Given the description of an element on the screen output the (x, y) to click on. 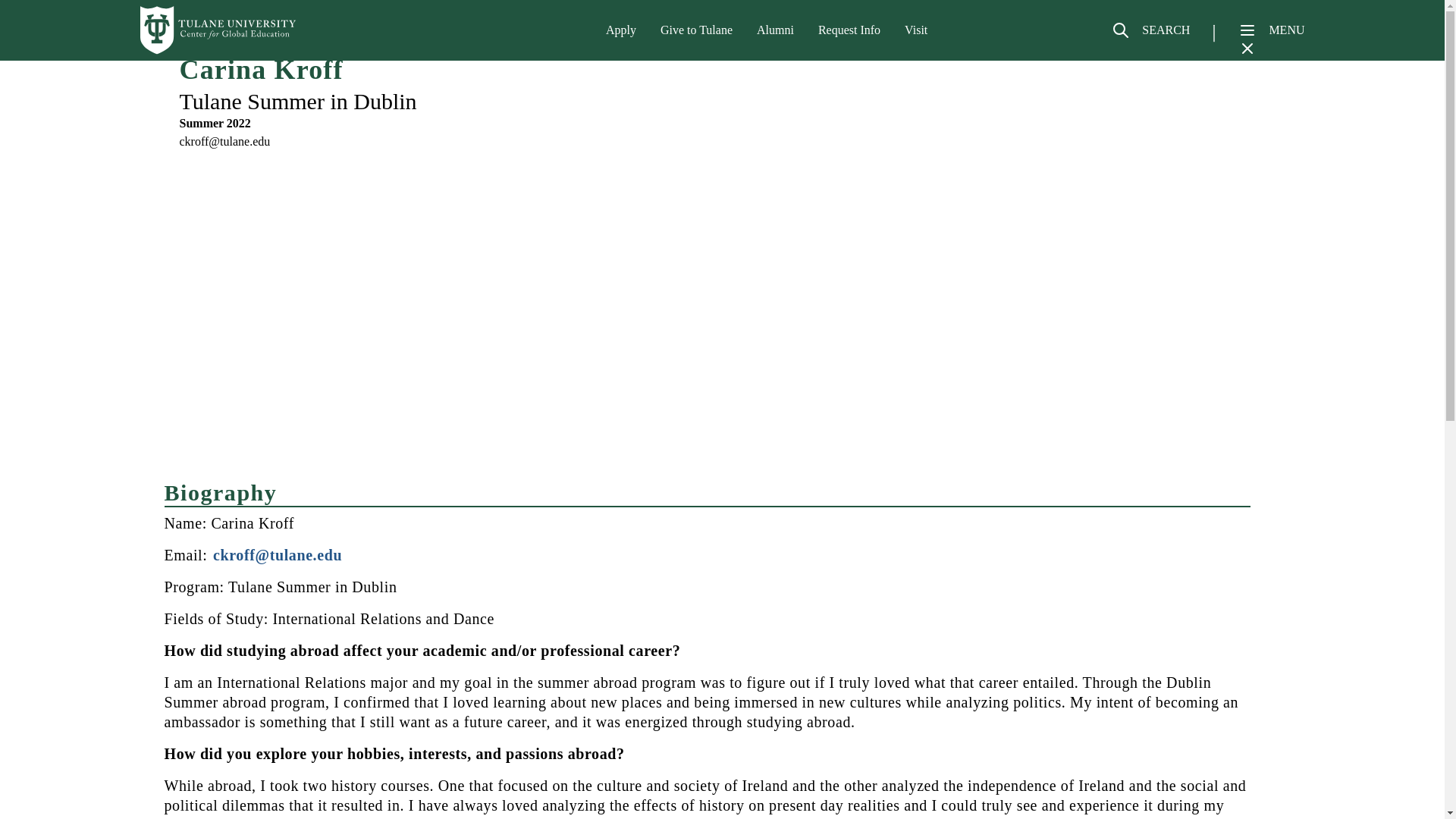
Home (218, 29)
Give to Tulane (696, 29)
Visit (915, 29)
Apply (620, 29)
Request Info (849, 29)
Alumni (775, 29)
SEARCH (1150, 36)
